Given the description of an element on the screen output the (x, y) to click on. 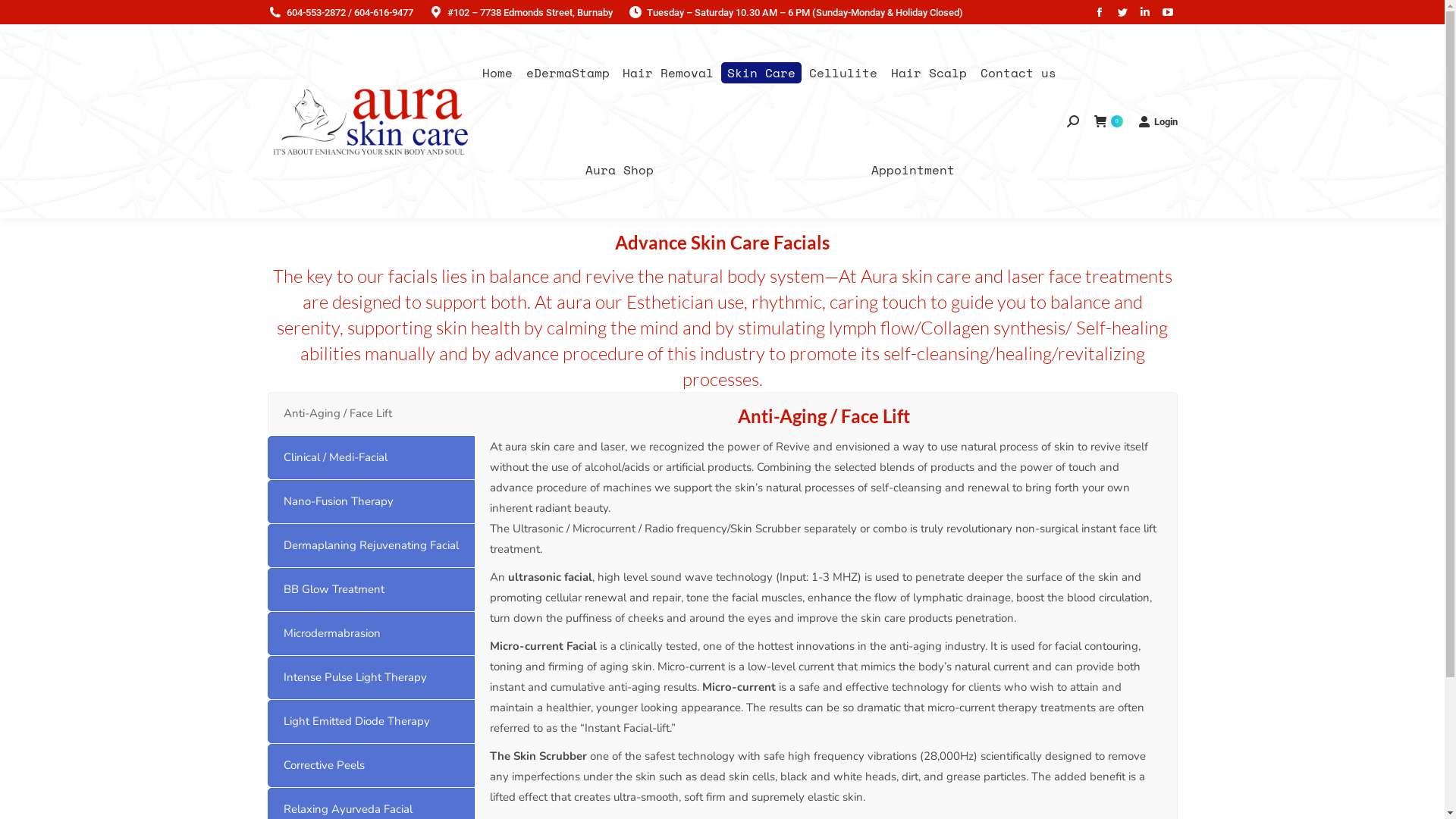
Microdermabrasion Element type: text (369, 633)
Cellulite Element type: text (843, 72)
Clinical / Medi-Facial Element type: text (369, 457)
Appointment Element type: text (912, 169)
Go! Element type: text (23, 16)
Intense Pulse Light Therapy Element type: text (369, 677)
Hair Removal Element type: text (667, 72)
 0 Element type: text (1107, 121)
eDermaStamp Element type: text (567, 72)
Contact us Element type: text (1018, 72)
BB Glow Treatment Element type: text (369, 589)
Anti-Aging / Face Lift Element type: text (369, 413)
Dermaplaning Rejuvenating Facial Element type: text (369, 545)
Aura Shop Element type: text (618, 169)
Nano-Fusion Therapy Element type: text (369, 501)
Skin Care Element type: text (761, 72)
Home Element type: text (497, 72)
Linkedin page opens in new window Element type: text (1144, 11)
Light Emitted Diode Therapy Element type: text (369, 721)
Hair Scalp Element type: text (928, 72)
Facebook page opens in new window Element type: text (1098, 11)
YouTube page opens in new window Element type: text (1166, 11)
Twitter page opens in new window Element type: text (1121, 11)
Corrective Peels Element type: text (369, 765)
Login Element type: text (1156, 121)
